Given the description of an element on the screen output the (x, y) to click on. 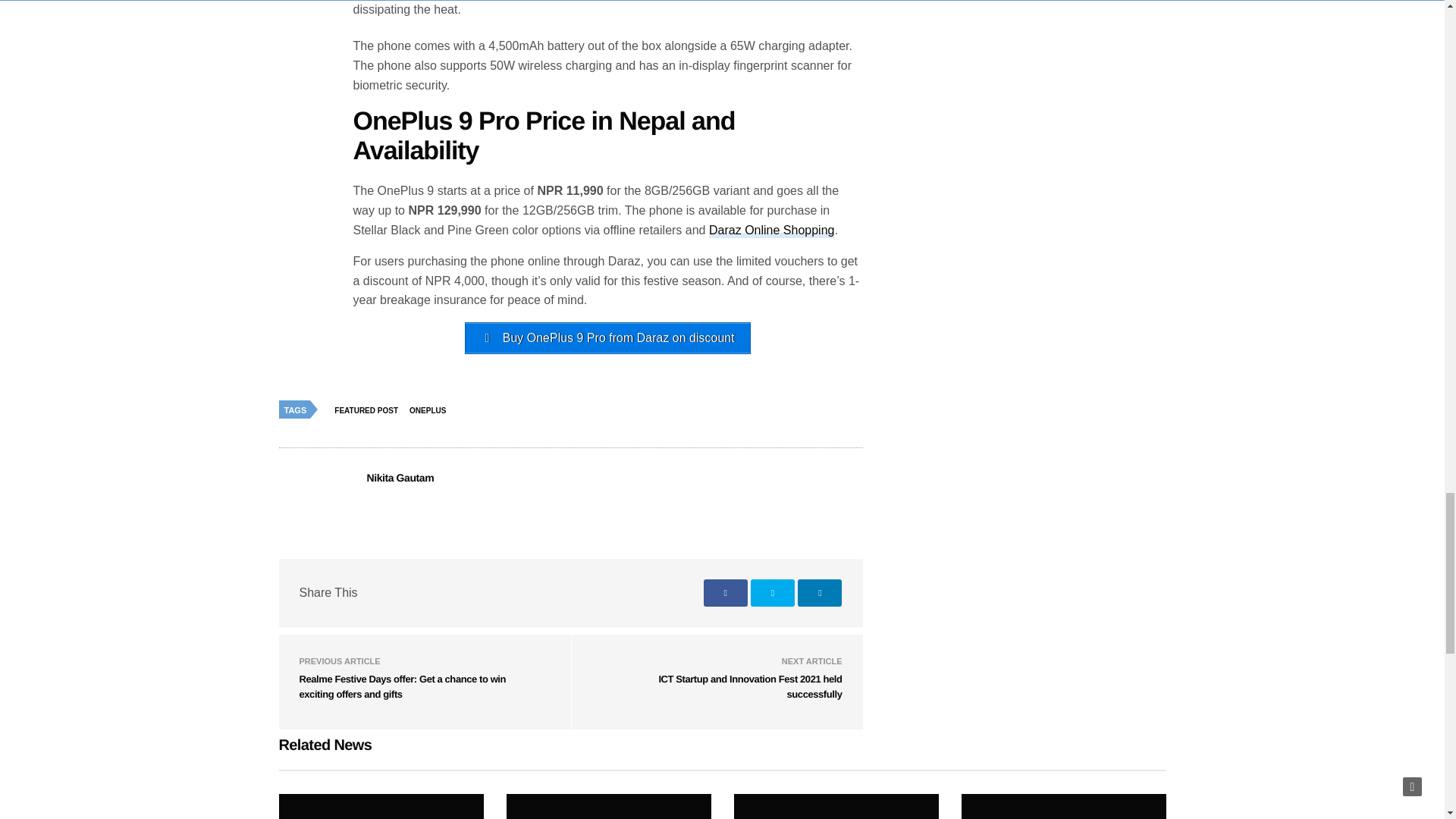
ICT Startup and Innovation Fest 2021 held successfully (749, 686)
